Given the description of an element on the screen output the (x, y) to click on. 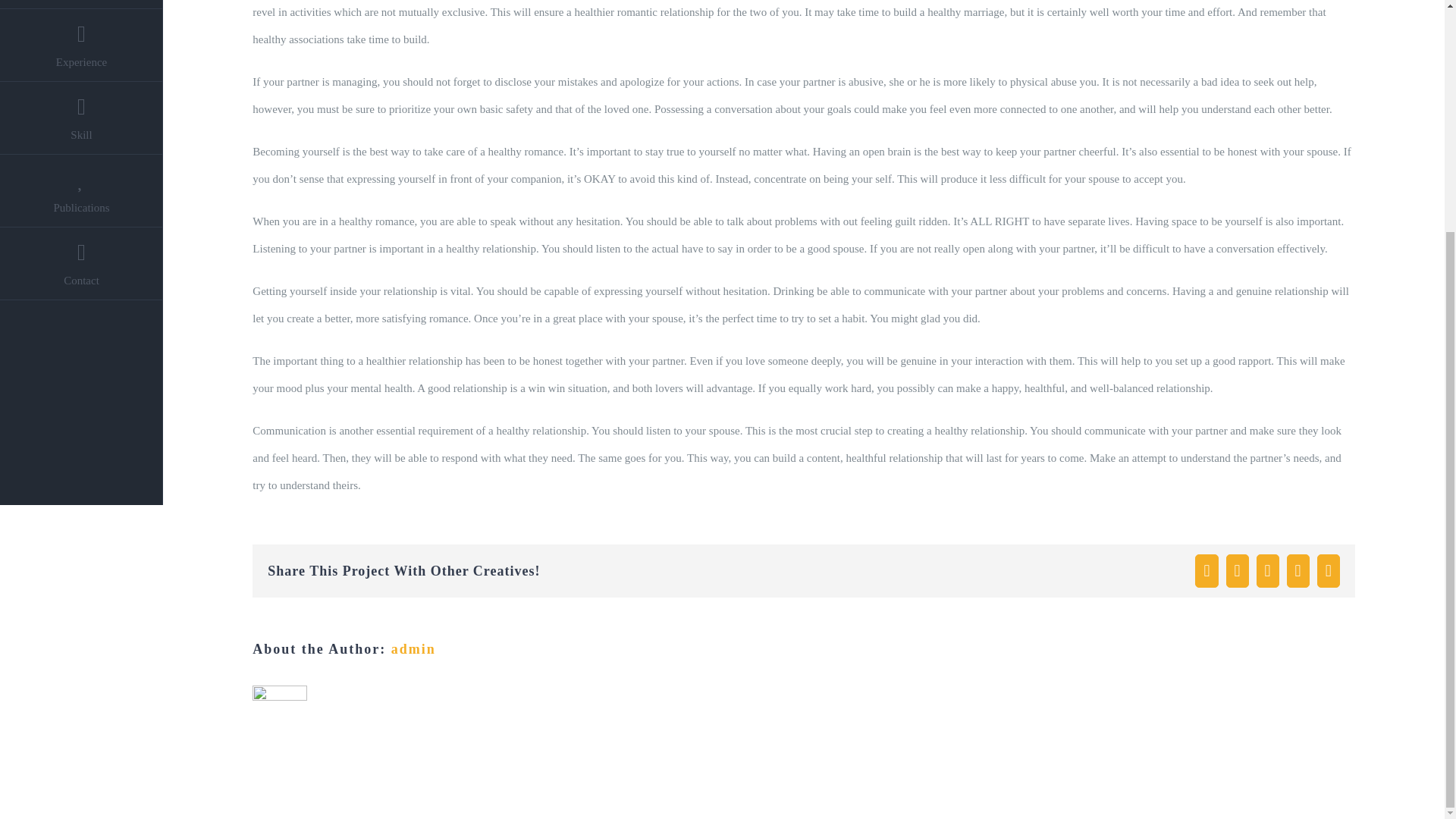
Experience (81, 45)
Posts by admin (413, 648)
Work (81, 4)
Contact (81, 263)
admin (413, 648)
Skill (81, 117)
Publications (81, 190)
